Given the description of an element on the screen output the (x, y) to click on. 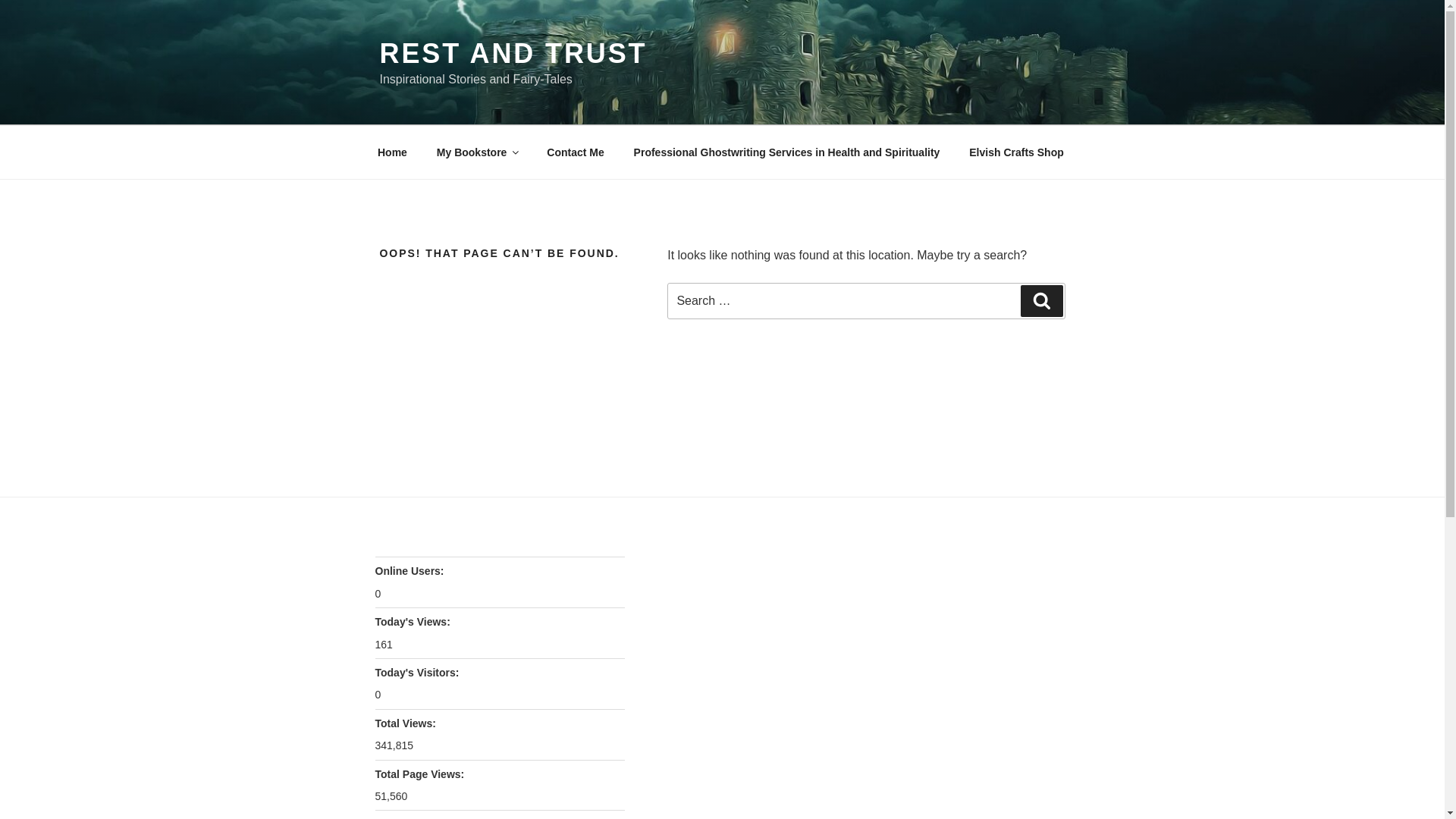
Contact Me (575, 151)
Elvish Crafts Shop (1016, 151)
Search (1041, 300)
My Bookstore (477, 151)
REST AND TRUST (512, 52)
Home (392, 151)
